Given the description of an element on the screen output the (x, y) to click on. 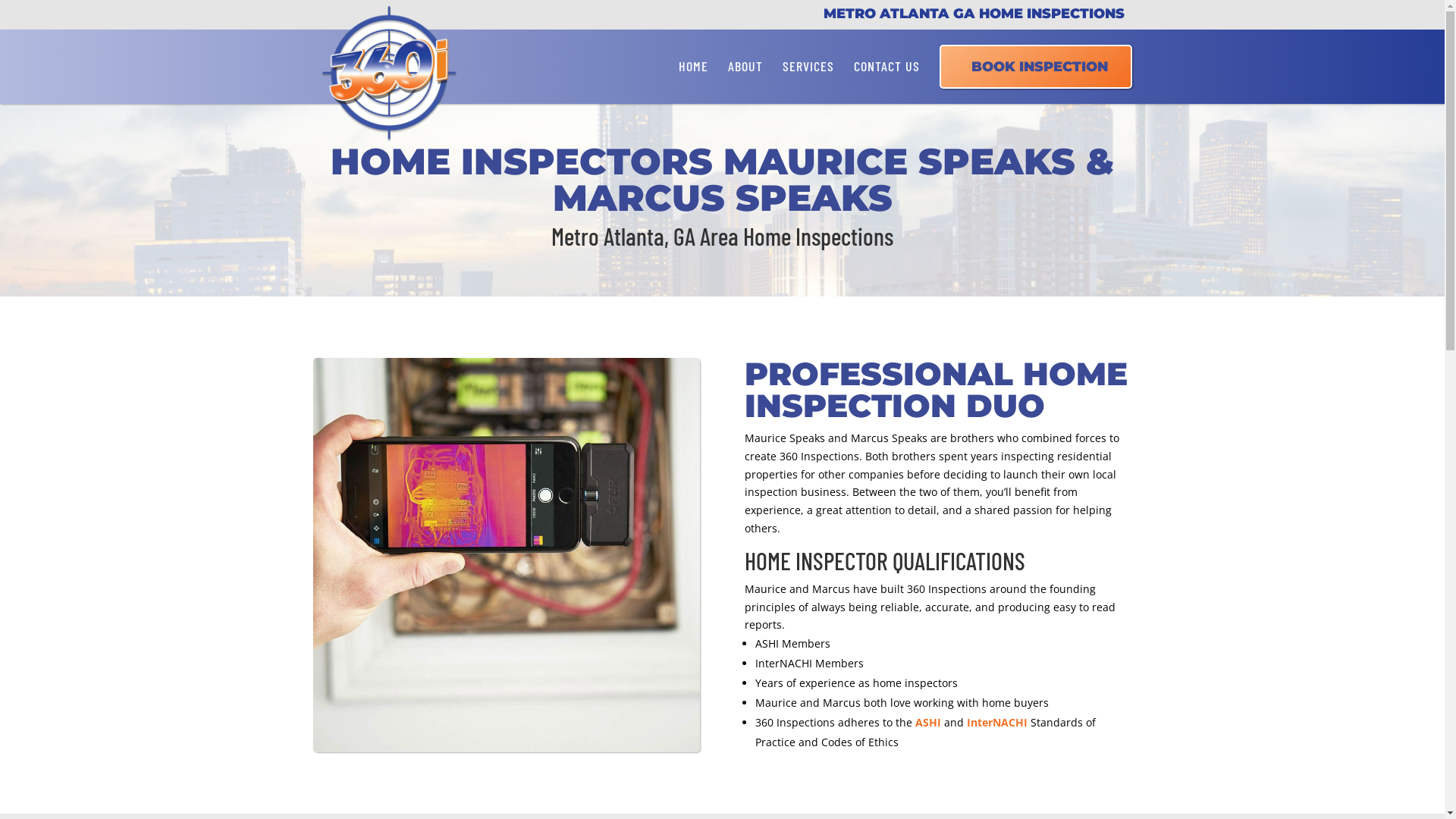
ASHI Element type: text (928, 722)
CONTACT US Element type: text (886, 65)
SERVICES Element type: text (808, 65)
ABOUT Element type: text (745, 65)
BOOK INSPECTION Element type: text (1034, 65)
InterNACHI Element type: text (996, 722)
HOME Element type: text (692, 65)
